Given the description of an element on the screen output the (x, y) to click on. 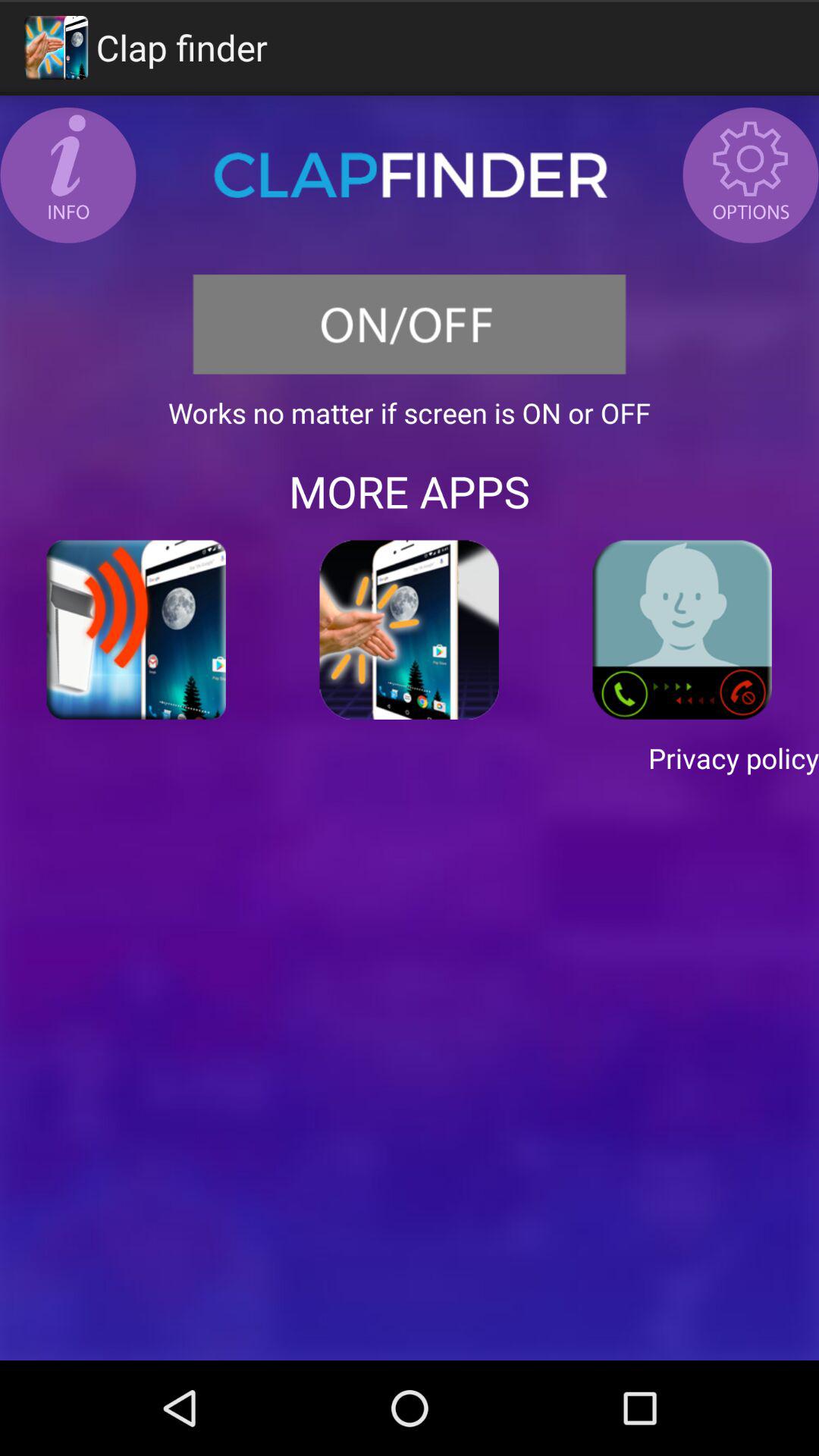
jump to more apps (409, 490)
